Given the description of an element on the screen output the (x, y) to click on. 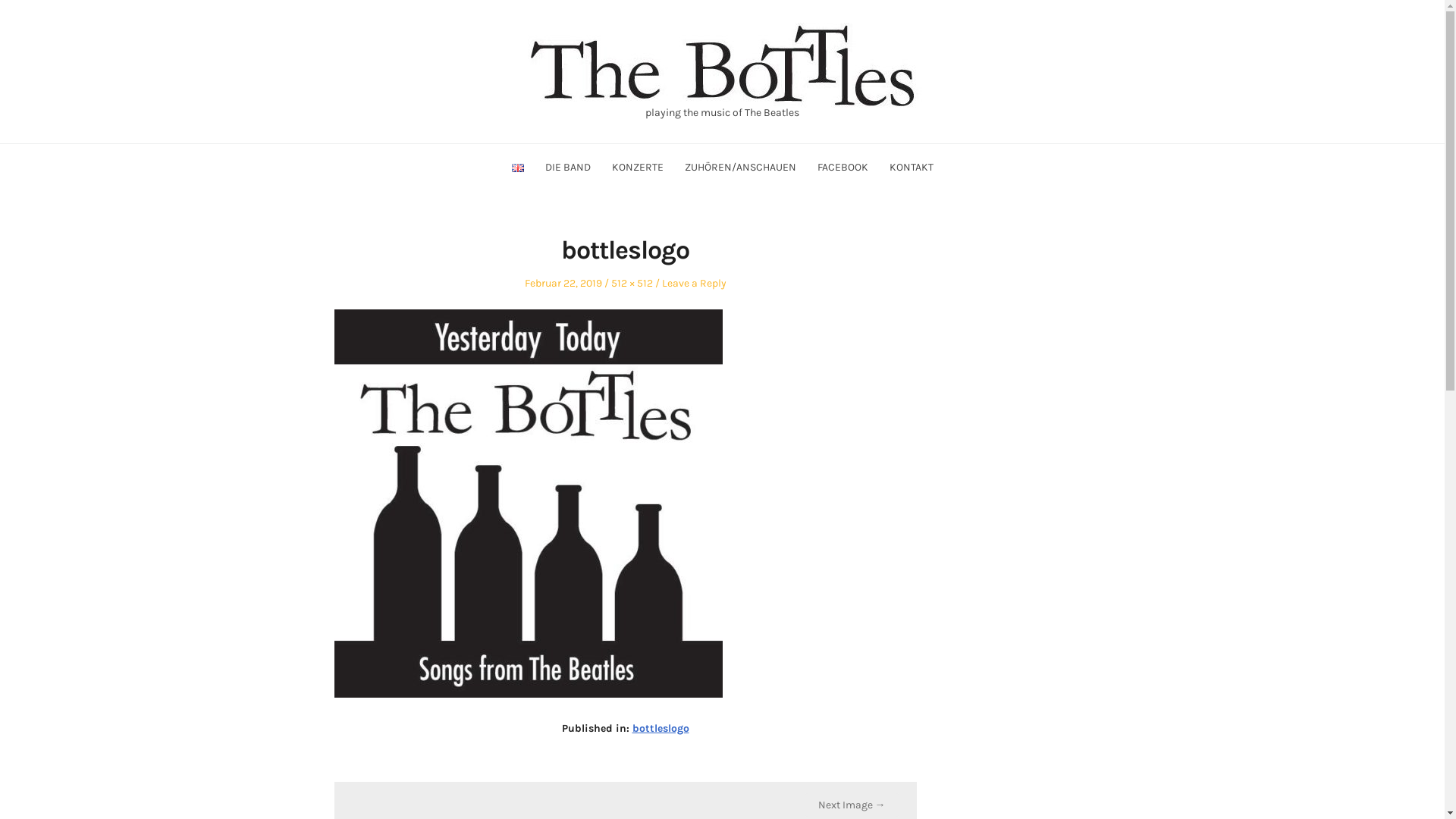
KONZERTE Element type: text (636, 166)
FACEBOOK Element type: text (842, 166)
KONTAKT Element type: text (910, 166)
Februar 22, 2019 Element type: text (563, 282)
DIE BAND Element type: text (566, 166)
THE BOTTLES Element type: text (324, 142)
bottleslogo Element type: text (660, 727)
Leave a Reply Element type: text (693, 282)
